Given the description of an element on the screen output the (x, y) to click on. 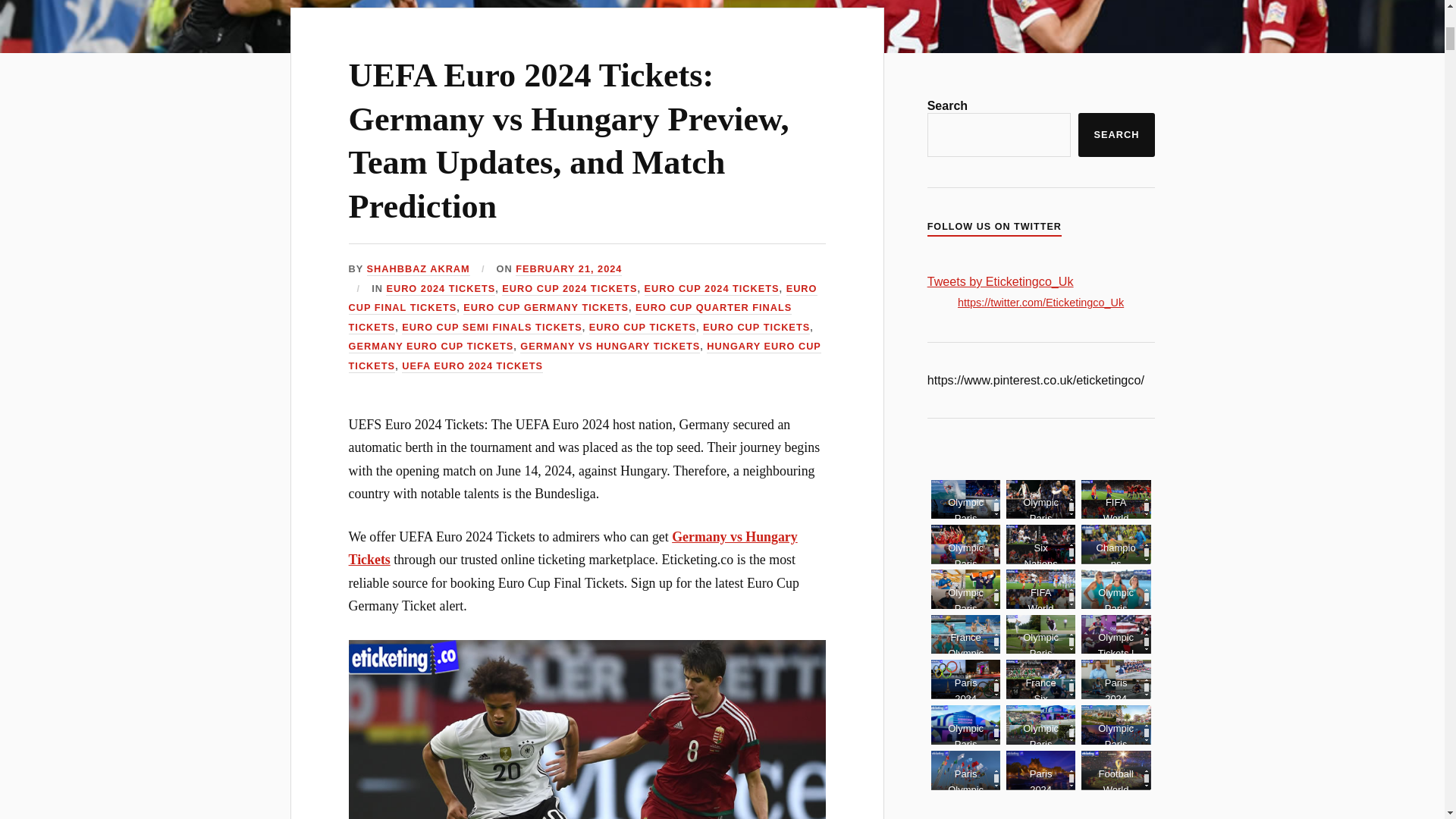
SHAHBBAZ AKRAM (418, 269)
EURO 2024 TICKETS (440, 288)
FEBRUARY 21, 2024 (568, 269)
EURO CUP QUARTER FINALS TICKETS (570, 318)
EURO CUP 2024 TICKETS (569, 288)
EURO CUP GERMANY TICKETS (545, 308)
EURO CUP FINAL TICKETS (582, 298)
Posts by Shahbbaz Akram (418, 269)
EURO CUP 2024 TICKETS (711, 288)
